Given the description of an element on the screen output the (x, y) to click on. 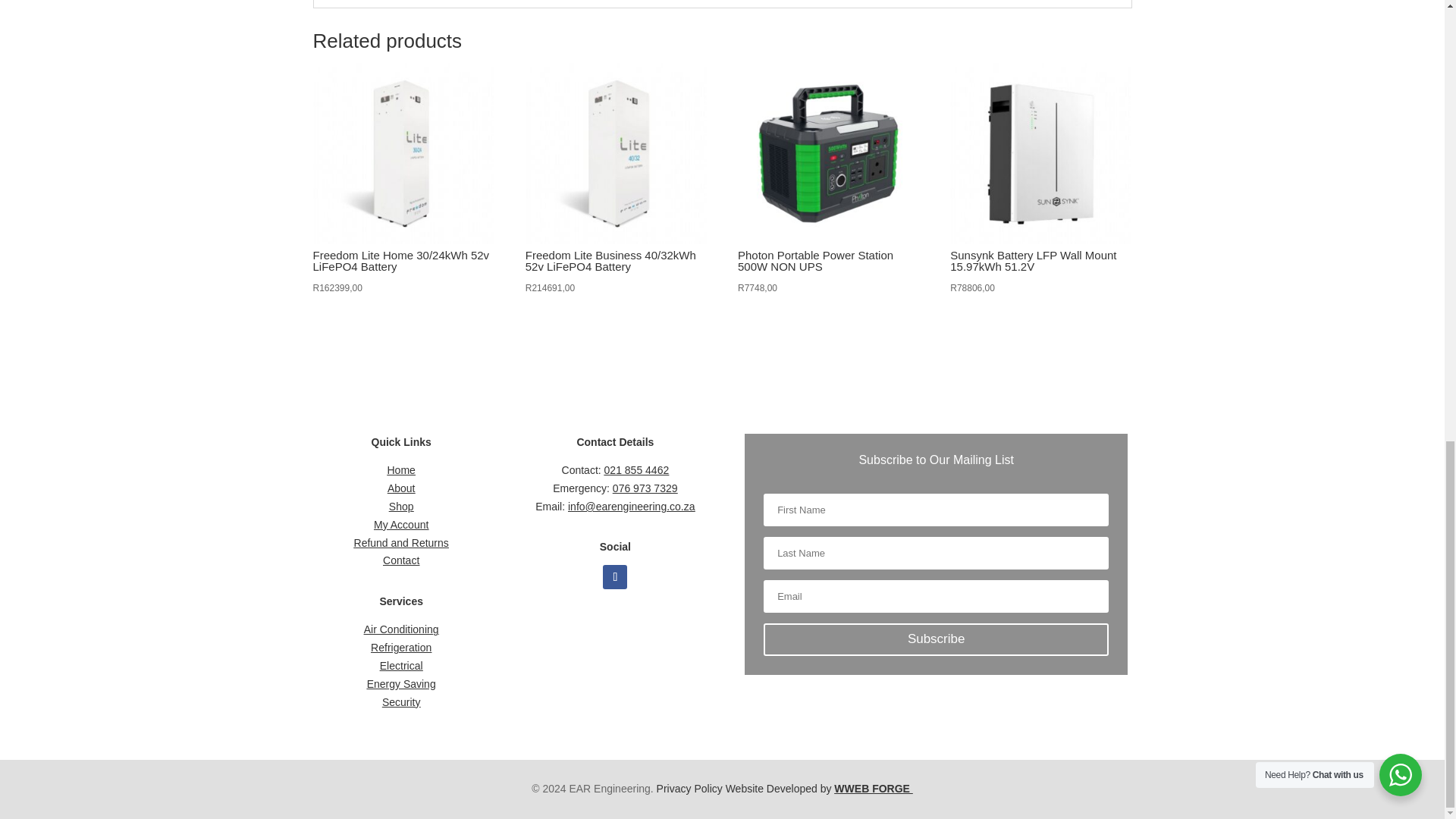
About (400, 488)
Contact (400, 560)
Shop (400, 506)
Refund and Returns (400, 542)
My Account (401, 524)
Home (400, 469)
